Given the description of an element on the screen output the (x, y) to click on. 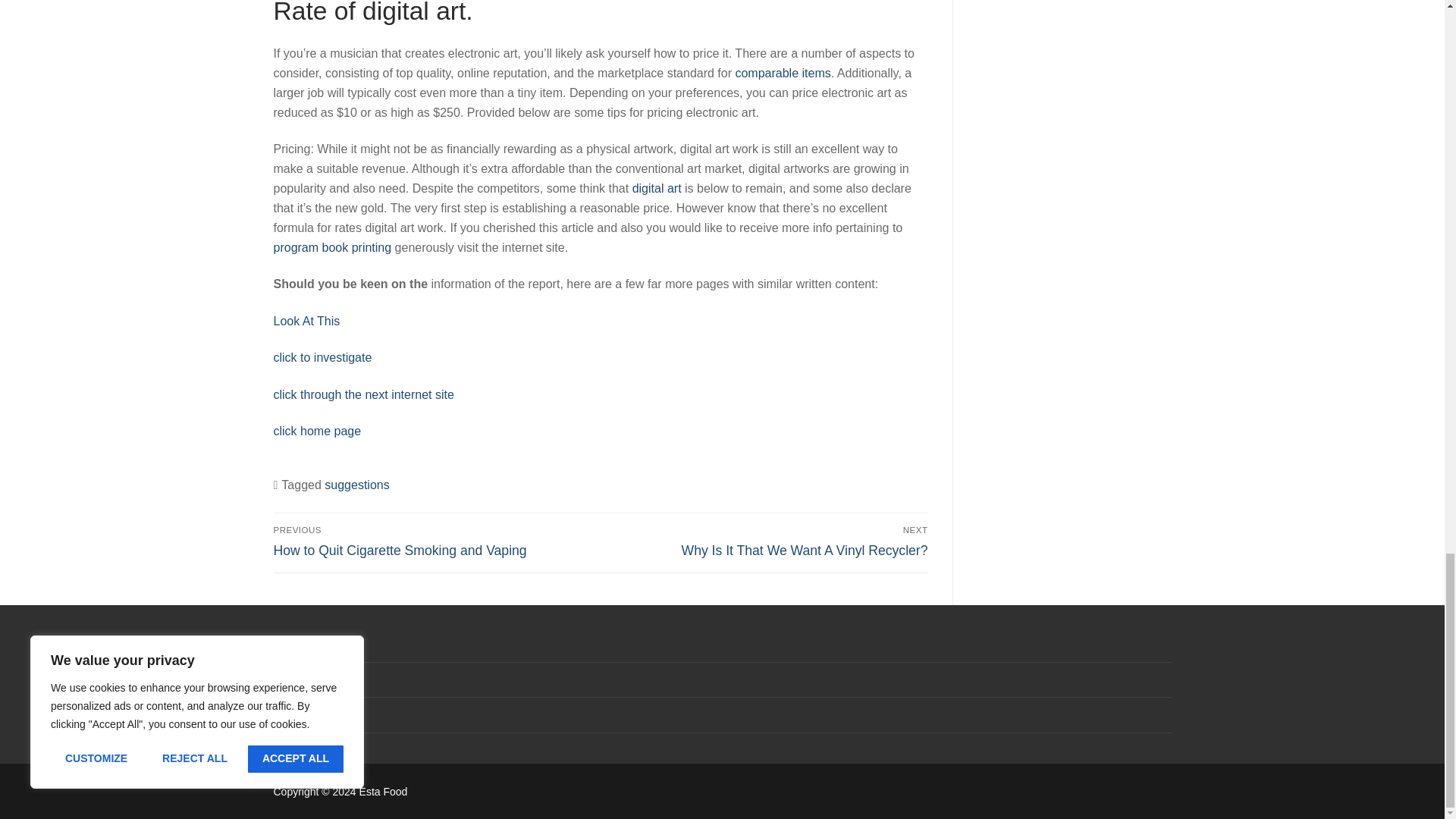
digital art (656, 187)
click through the next internet site (767, 541)
Look At This (362, 394)
click to investigate (306, 320)
suggestions (322, 357)
program book printing (356, 484)
comparable items (332, 246)
click home page (782, 72)
